Given the description of an element on the screen output the (x, y) to click on. 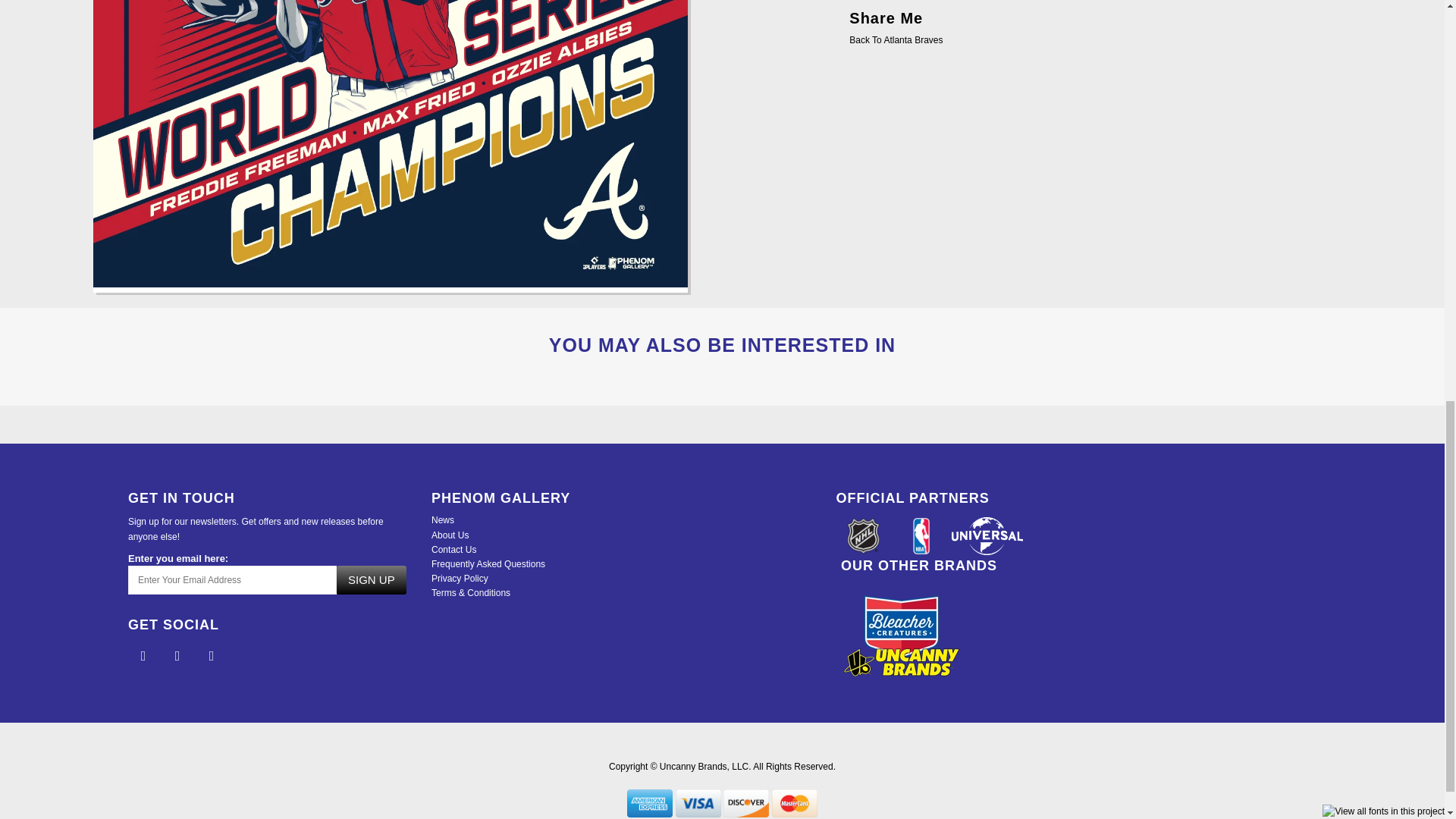
Sign Up (371, 579)
